Given the description of an element on the screen output the (x, y) to click on. 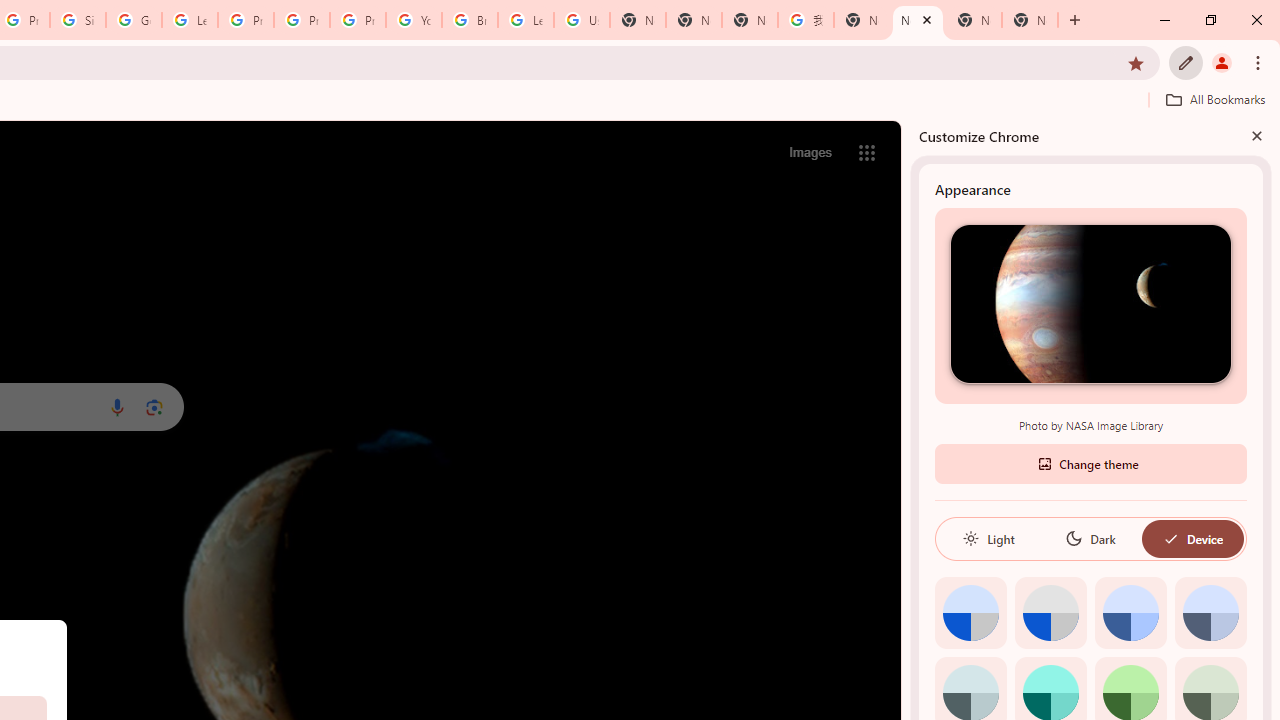
Dark (1090, 538)
New Tab (1030, 20)
Sign in - Google Accounts (77, 20)
Privacy Help Center - Policies Help (301, 20)
YouTube (413, 20)
Grey default color (1050, 612)
Cool grey (1210, 612)
